Given the description of an element on the screen output the (x, y) to click on. 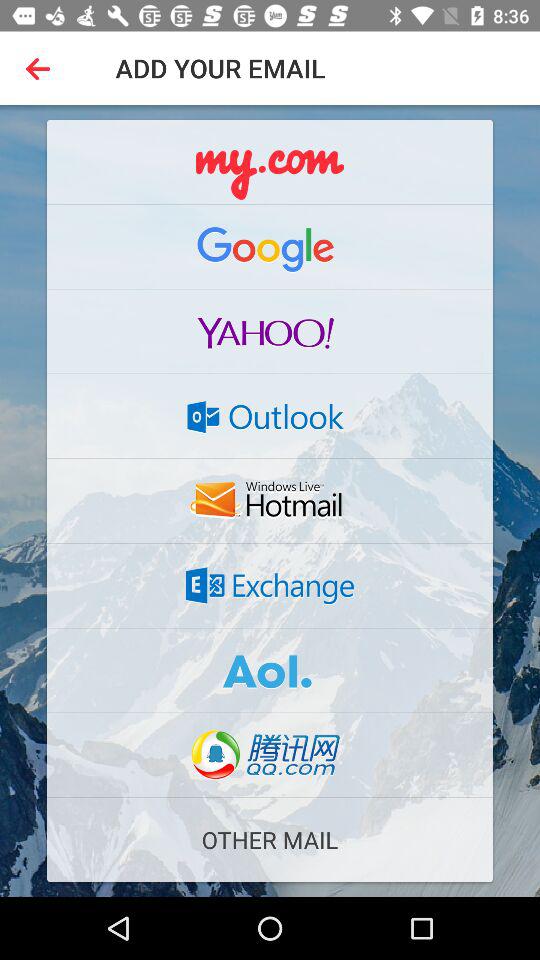
yahoo email select (269, 331)
